Given the description of an element on the screen output the (x, y) to click on. 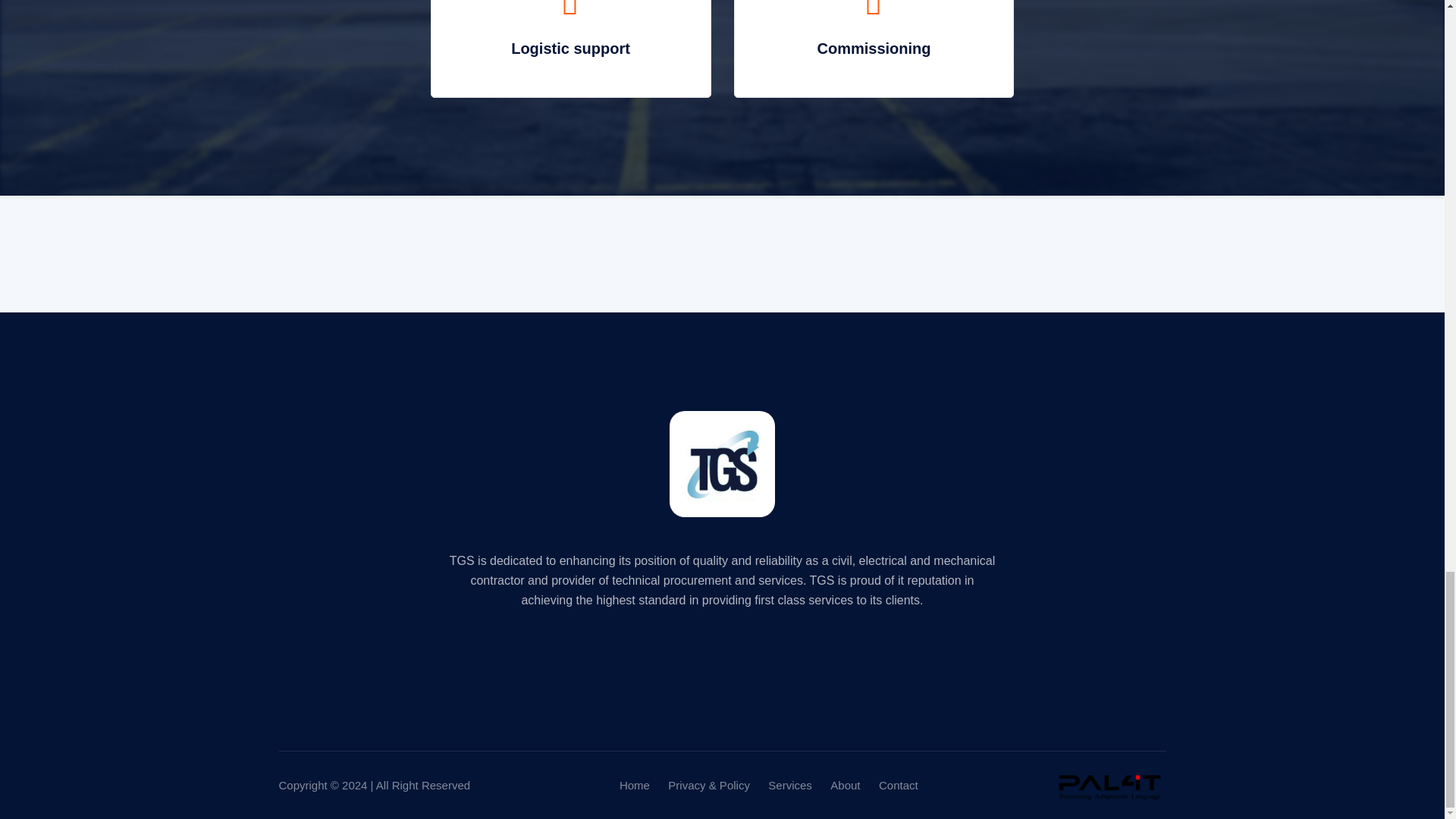
Home (634, 785)
pal4it (1109, 785)
About (844, 785)
Services (790, 785)
Contact (898, 785)
